Given the description of an element on the screen output the (x, y) to click on. 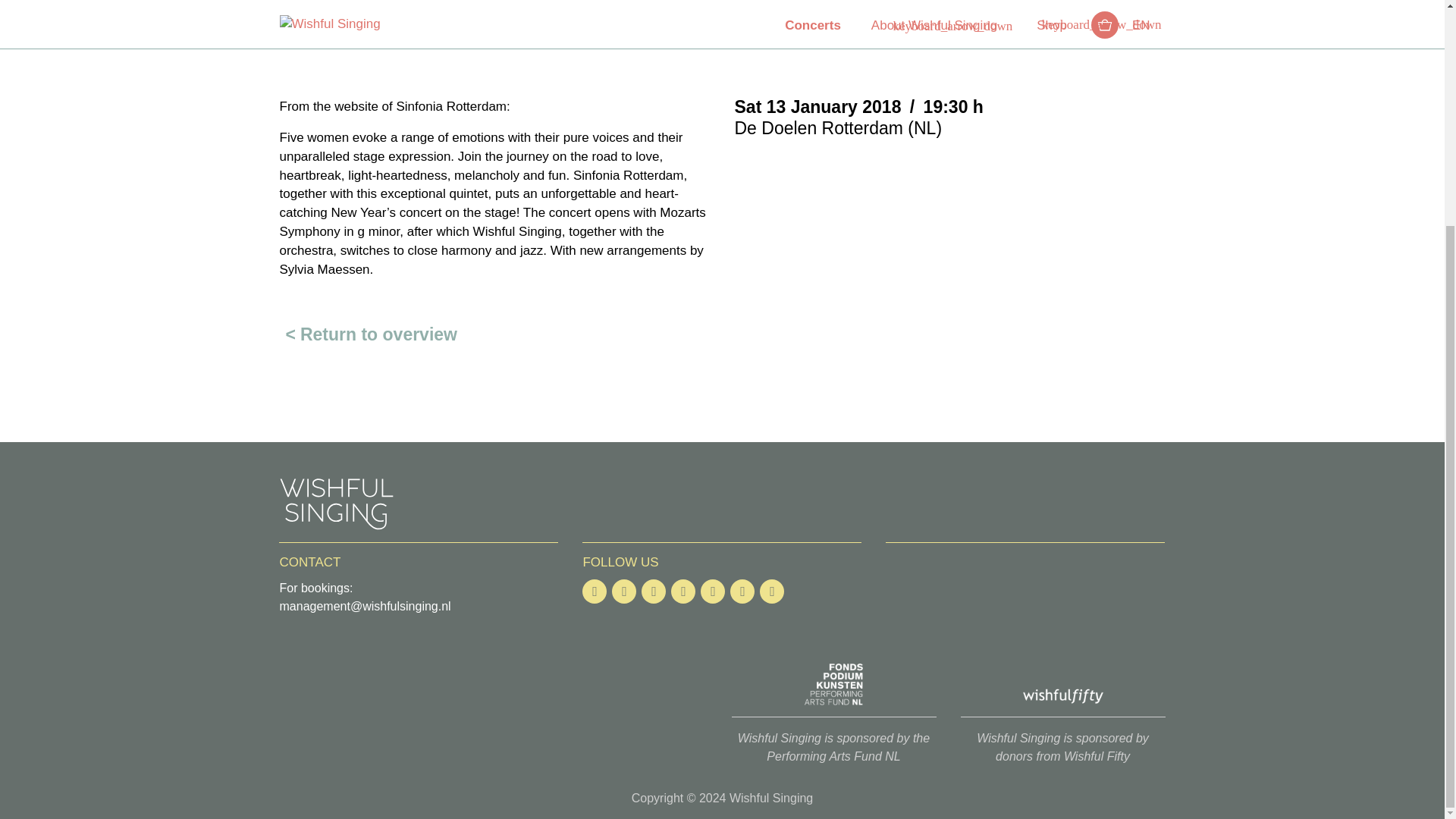
Youtube (623, 591)
Twitter (653, 591)
Wishful Fifty (1062, 747)
Return to overview (368, 335)
Wishful Fifty (1061, 684)
Performing Arts Fund NL (834, 747)
LinkedIn (683, 591)
Performing Arts Fund NL (833, 684)
Soundcloud (772, 591)
Facebook (594, 591)
